Given the description of an element on the screen output the (x, y) to click on. 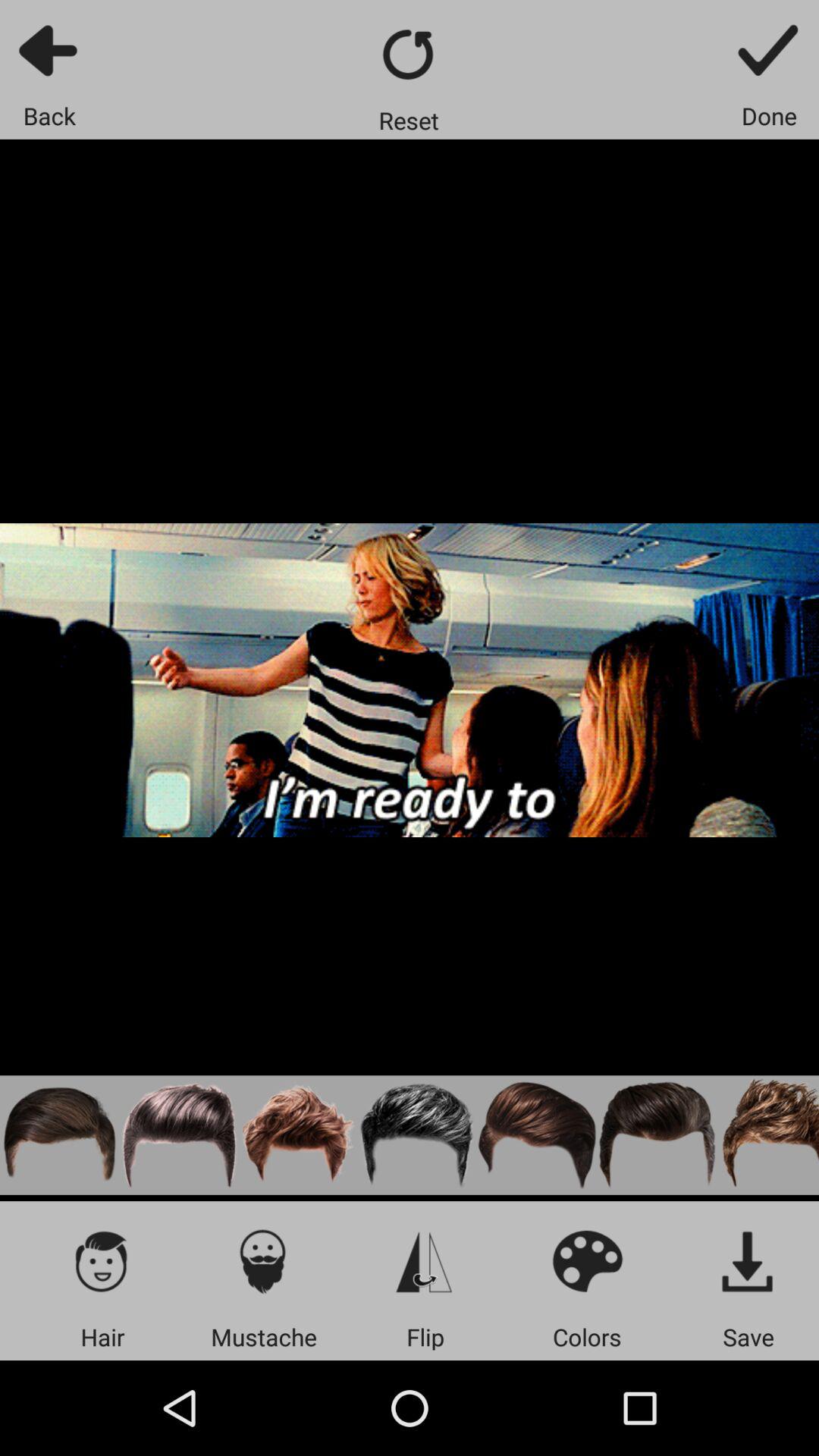
select it (748, 1260)
